Given the description of an element on the screen output the (x, y) to click on. 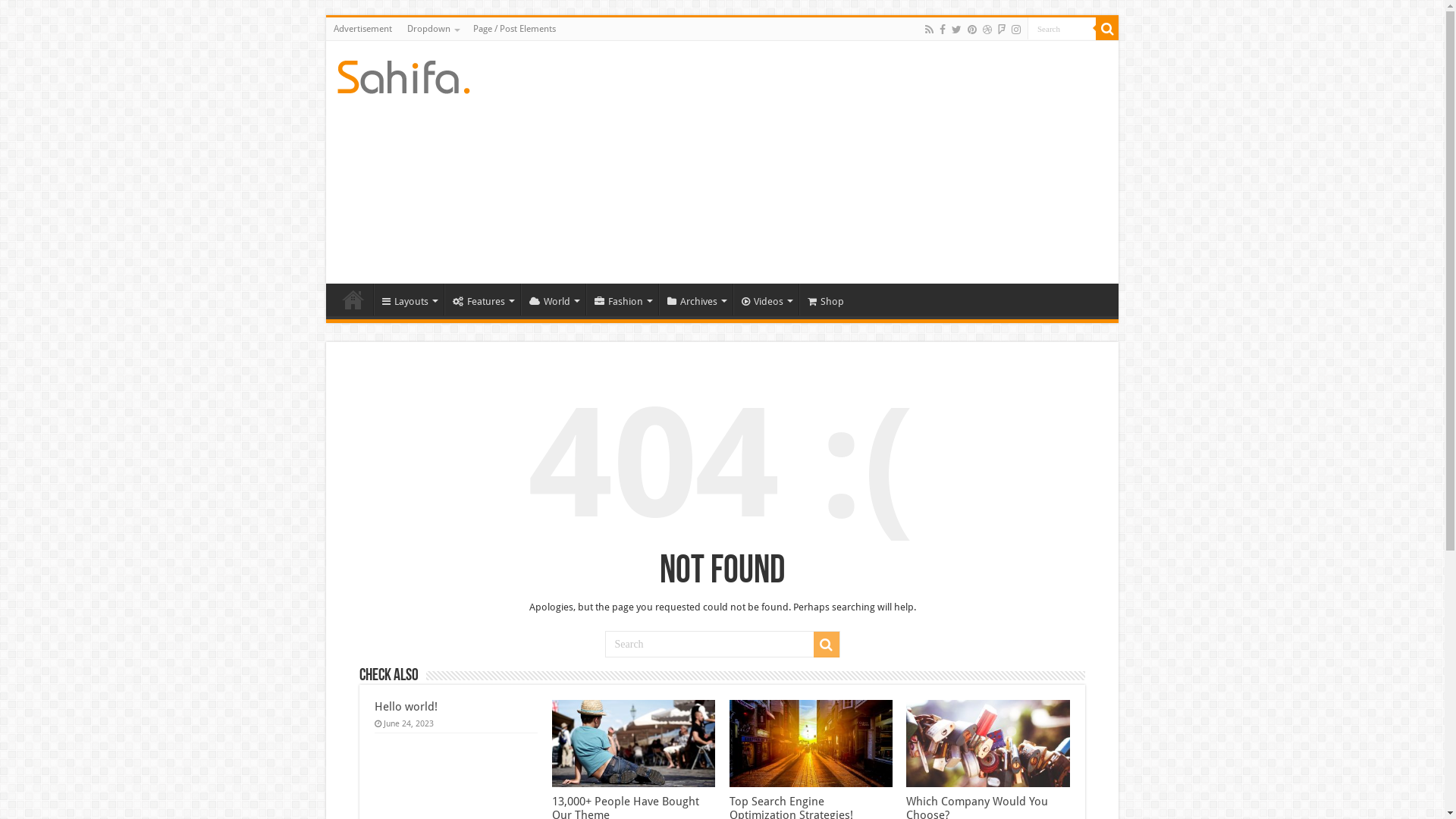
Shop Element type: text (825, 299)
Rss Element type: hover (929, 29)
Cats And Dogs Element type: hover (403, 74)
Dribbble Element type: hover (987, 29)
Home Element type: text (353, 299)
Foursquare Element type: hover (1001, 29)
Videos Element type: text (765, 299)
Search Element type: text (1106, 28)
Search Element type: text (825, 644)
Twitter Element type: hover (956, 29)
Hello world! Element type: text (405, 706)
Page / Post Elements Element type: text (514, 28)
instagram Element type: hover (1016, 29)
Layouts Element type: text (408, 299)
Fashion Element type: text (622, 299)
Search Element type: hover (1061, 28)
Advertisement Element type: text (362, 28)
Features Element type: text (482, 299)
Facebook Element type: hover (942, 29)
Pinterest Element type: hover (972, 29)
Advertisement Element type: hover (831, 162)
Dropdown Element type: text (432, 28)
Archives Element type: text (695, 299)
World Element type: text (552, 299)
